Given the description of an element on the screen output the (x, y) to click on. 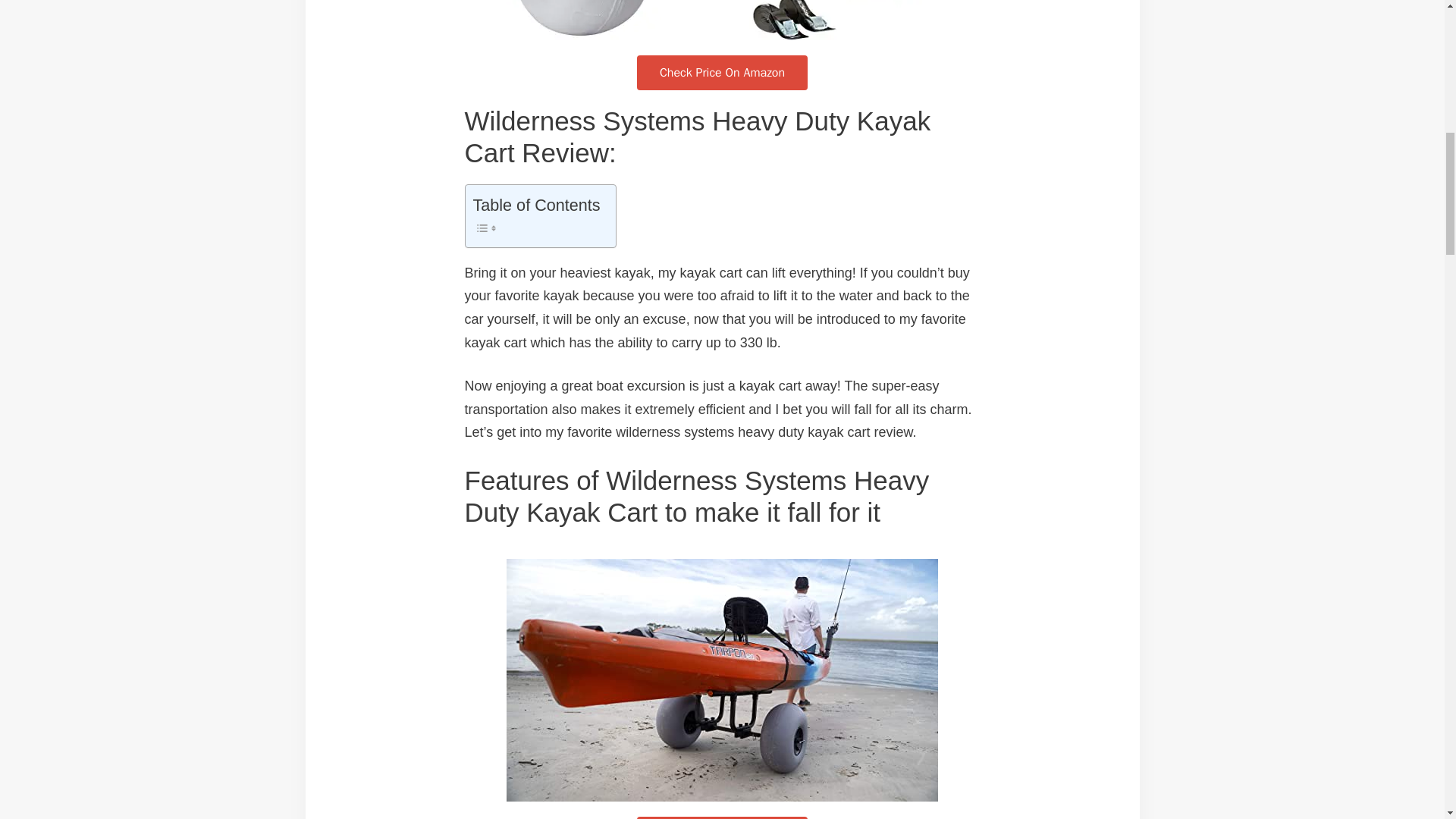
Check Price On Amazon (722, 72)
Check Price On Amazon (722, 817)
Scroll back to top (1406, 720)
